Given the description of an element on the screen output the (x, y) to click on. 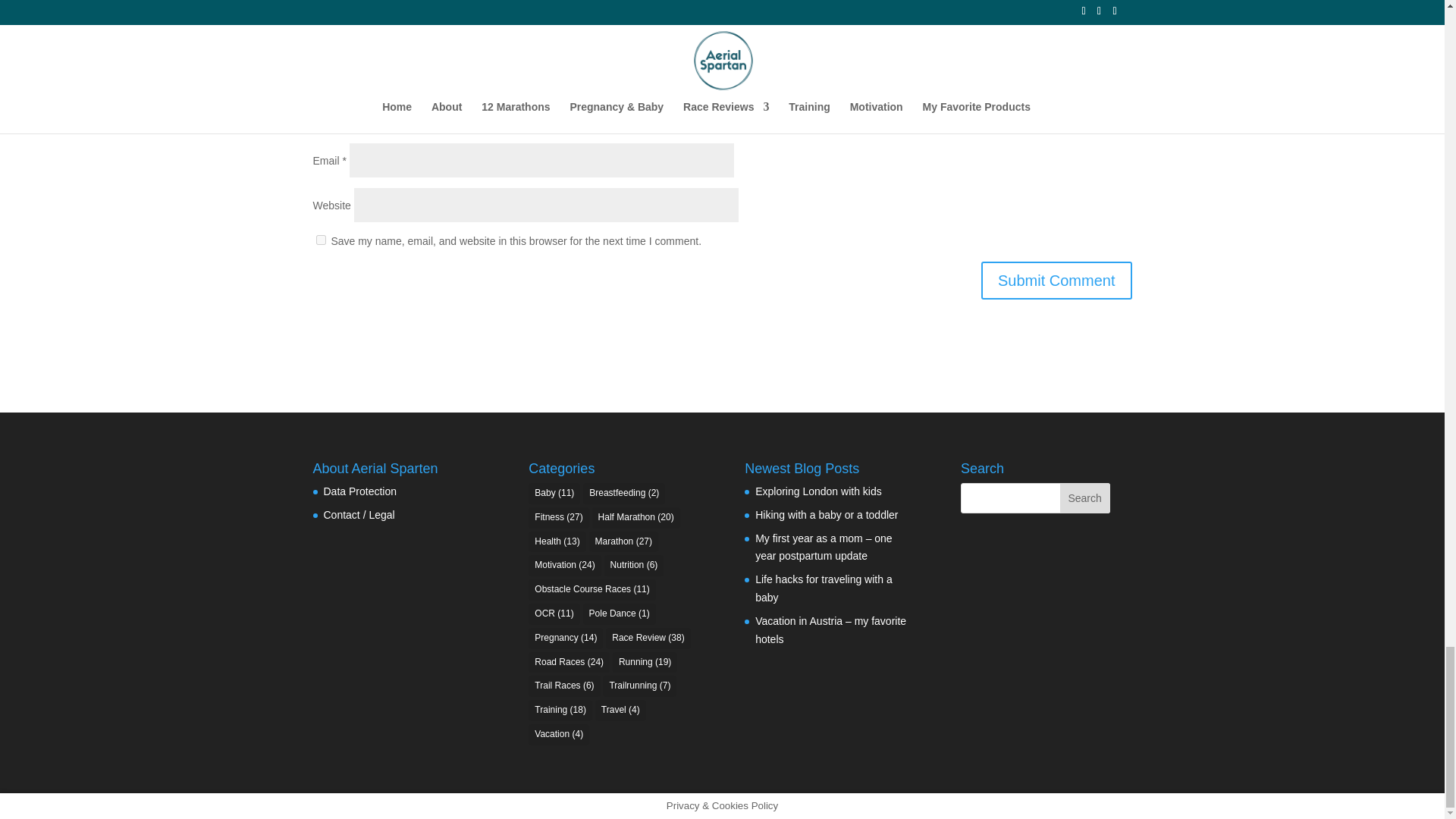
Submit Comment (1056, 280)
Submit Comment (1056, 280)
Search (1084, 498)
yes (319, 239)
Data Protection (359, 491)
